Given the description of an element on the screen output the (x, y) to click on. 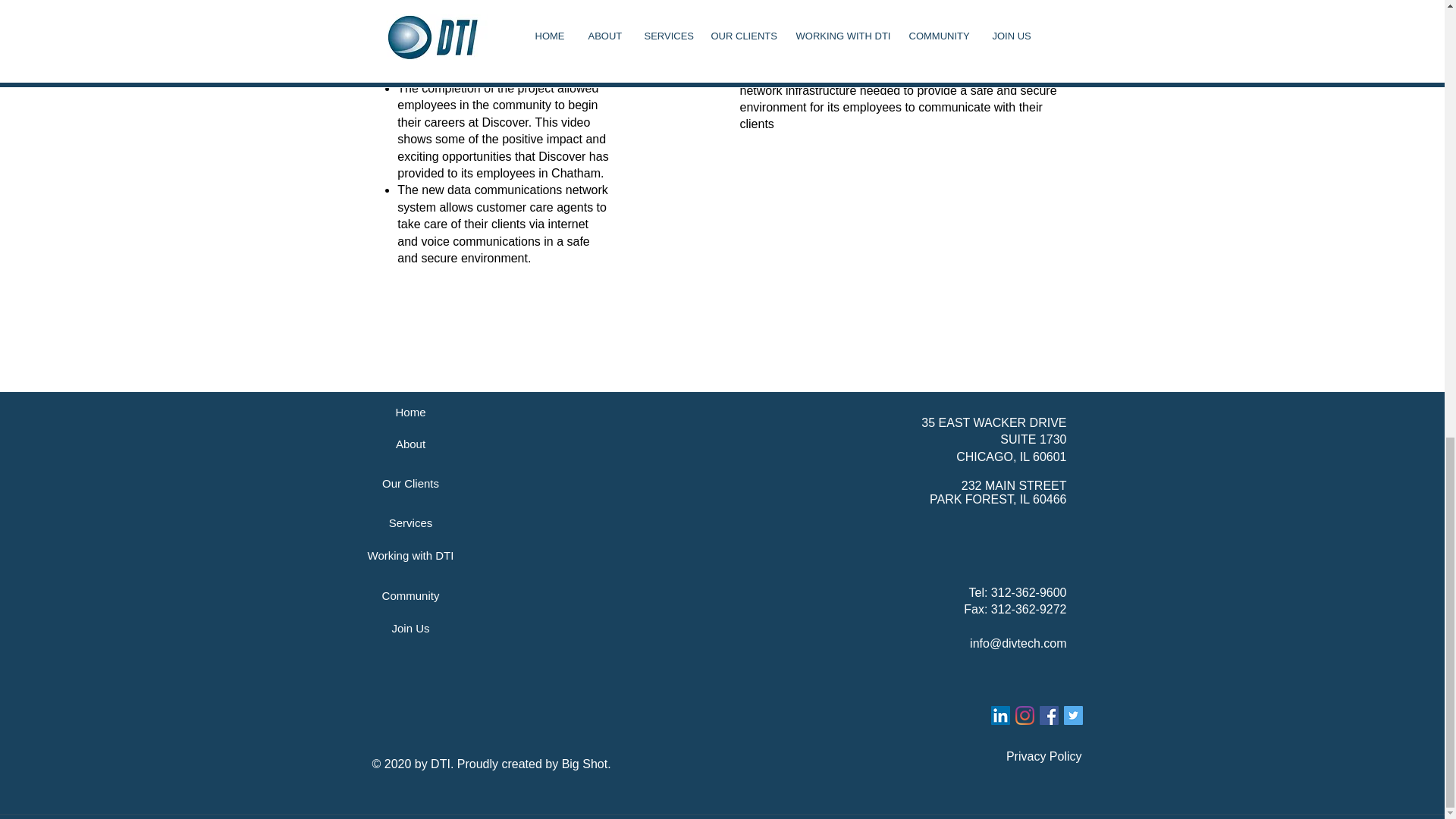
About (410, 443)
Services (410, 521)
Community (410, 594)
Working with DTI (410, 554)
Big Shot.  (588, 763)
Home (410, 411)
Our Clients (410, 482)
Privacy Policy (1043, 756)
Join Us (410, 627)
